Given the description of an element on the screen output the (x, y) to click on. 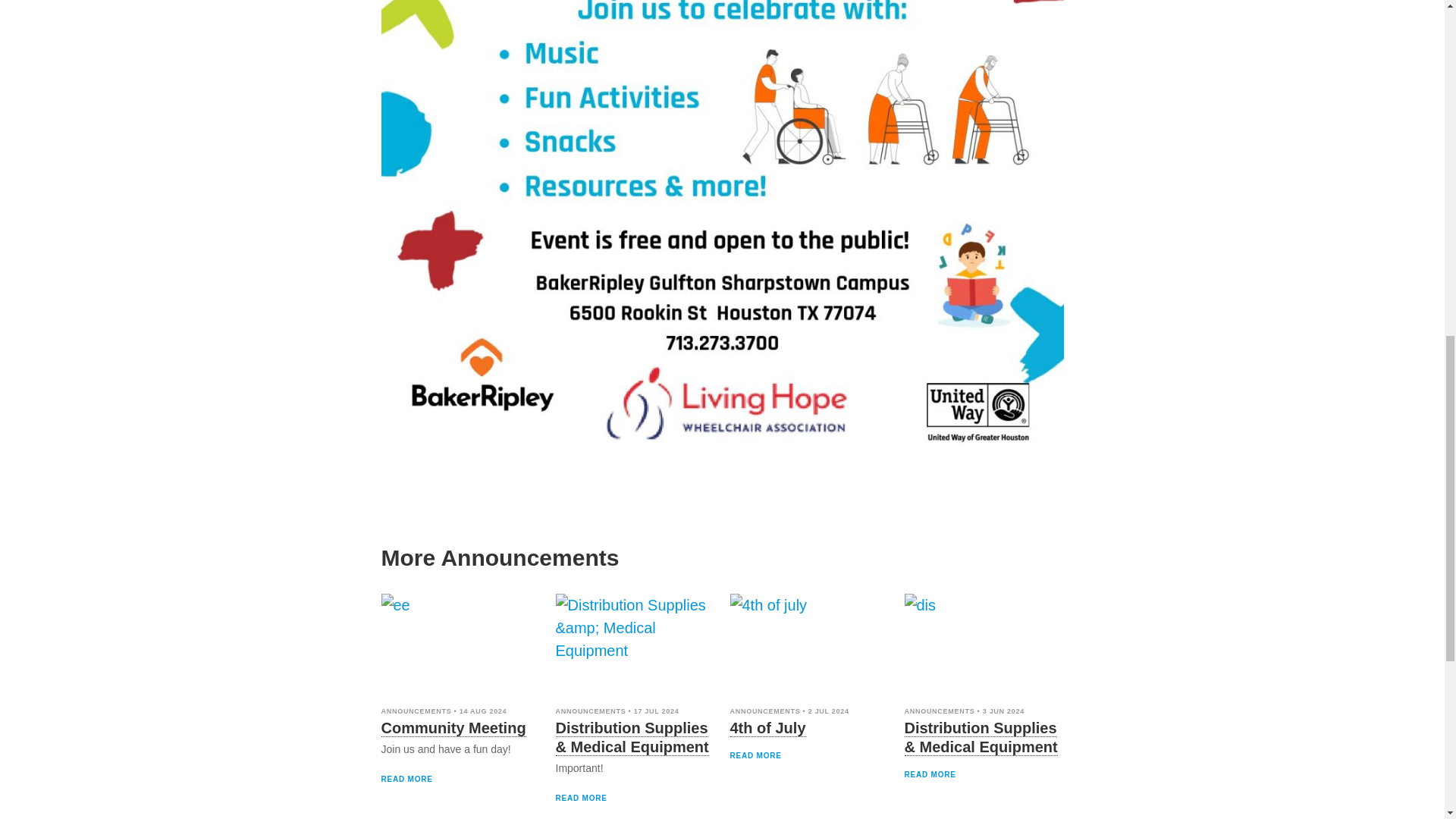
4th of july (808, 645)
READ MORE (406, 778)
Community Meeting (452, 728)
ee (460, 645)
READ MORE (580, 797)
